Given the description of an element on the screen output the (x, y) to click on. 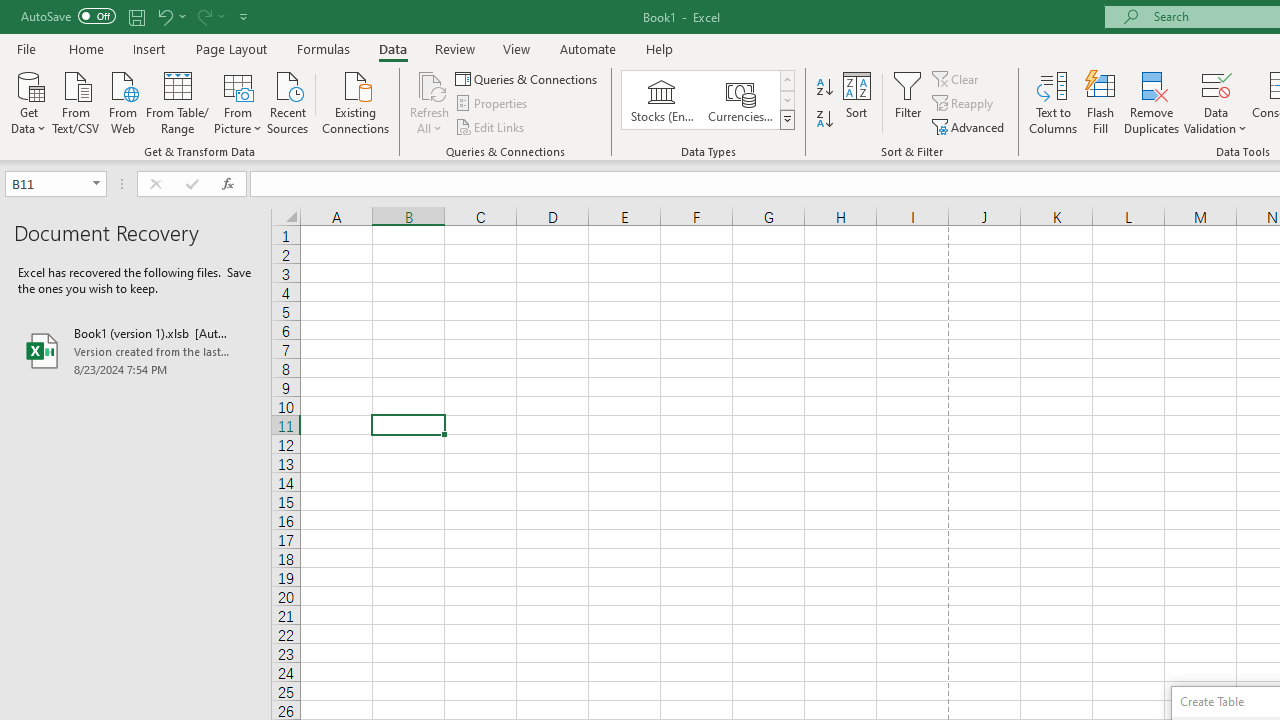
Customize Quick Access Toolbar (244, 15)
Open (96, 183)
Text to Columns... (1053, 102)
Remove Duplicates (1151, 102)
Filter (908, 102)
Flash Fill (1101, 102)
More Options (1215, 121)
From Table/Range (177, 101)
Get Data (28, 101)
File Tab (26, 48)
Recent Sources (287, 101)
From Web (122, 101)
AutomationID: ConvertToLinkedEntity (708, 99)
